Given the description of an element on the screen output the (x, y) to click on. 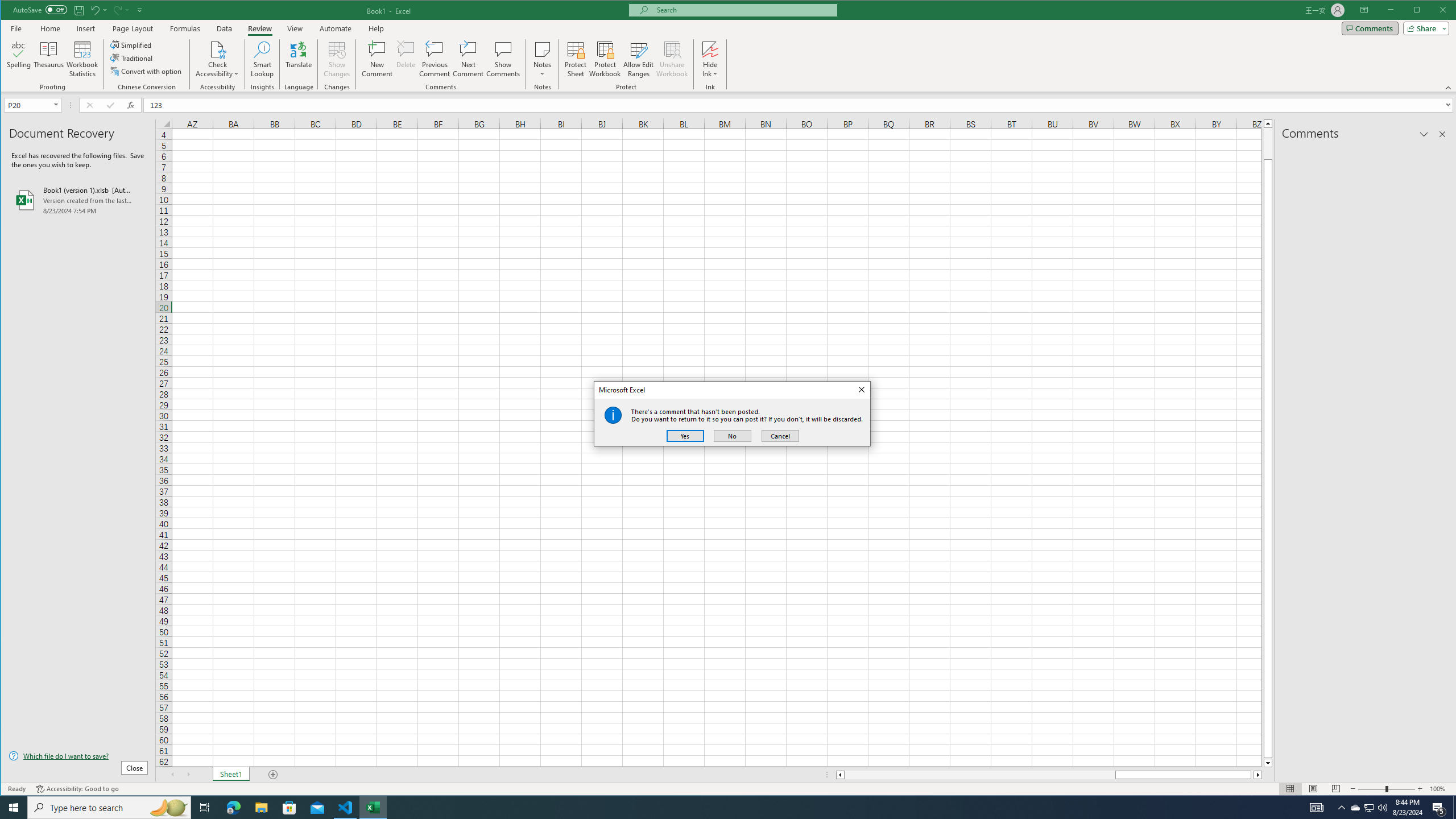
Simplified (132, 44)
Show desktop (1454, 807)
Spelling... (18, 59)
Cancel (780, 435)
Hide Ink (710, 59)
Smart Lookup (261, 59)
Workbook Statistics (82, 59)
Notification Chevron (1341, 807)
Class: Static (612, 415)
